Given the description of an element on the screen output the (x, y) to click on. 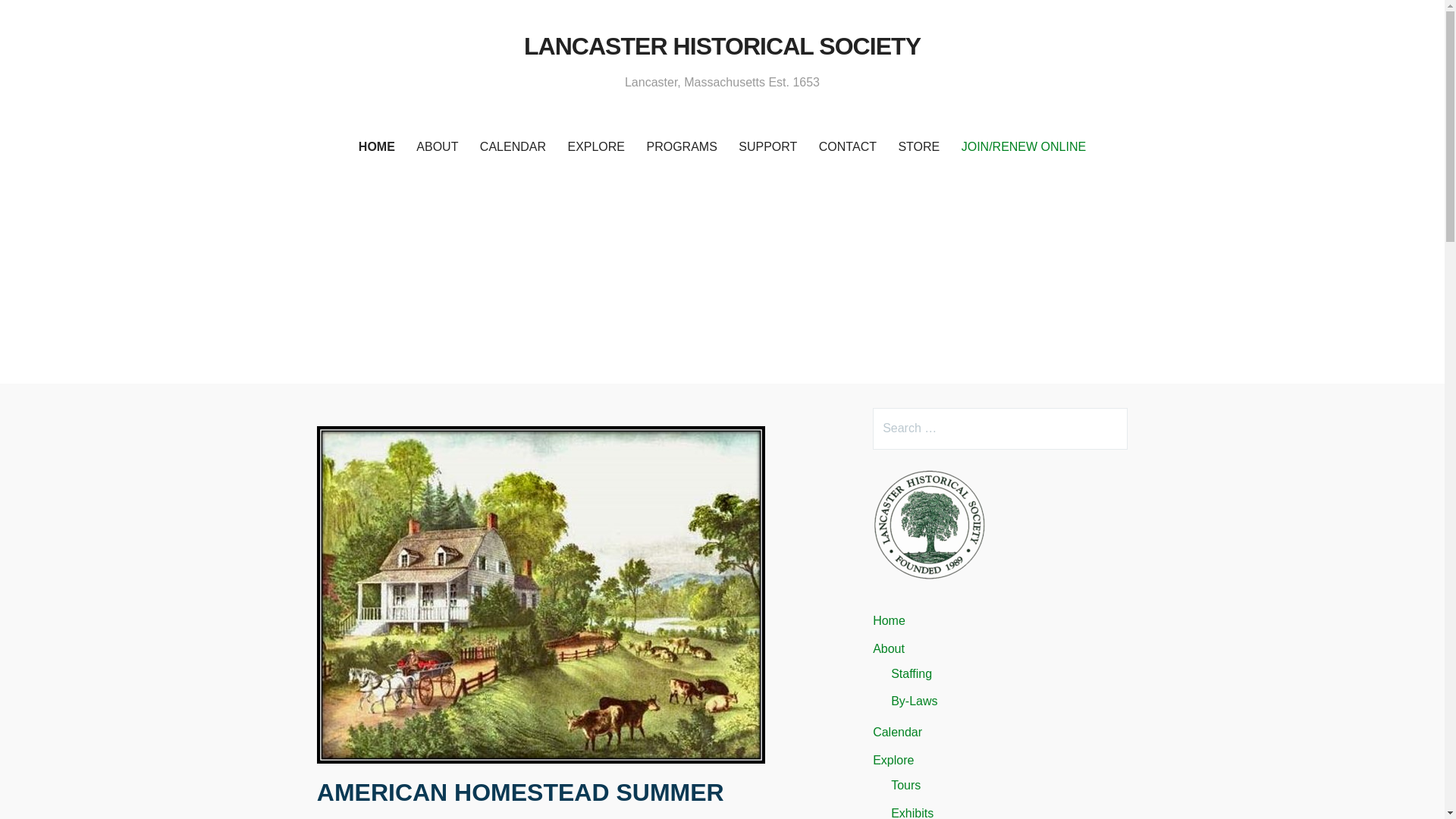
By-Laws (914, 700)
Exhibits (912, 812)
Tours (905, 784)
SUPPORT (767, 146)
Search (42, 18)
PROGRAMS (681, 146)
LANCASTER HISTORICAL SOCIETY (722, 45)
Explore (893, 759)
Home (888, 620)
About (888, 648)
CONTACT (847, 146)
HOME (376, 146)
ABOUT (437, 146)
EXPLORE (595, 146)
CALENDAR (512, 146)
